Given the description of an element on the screen output the (x, y) to click on. 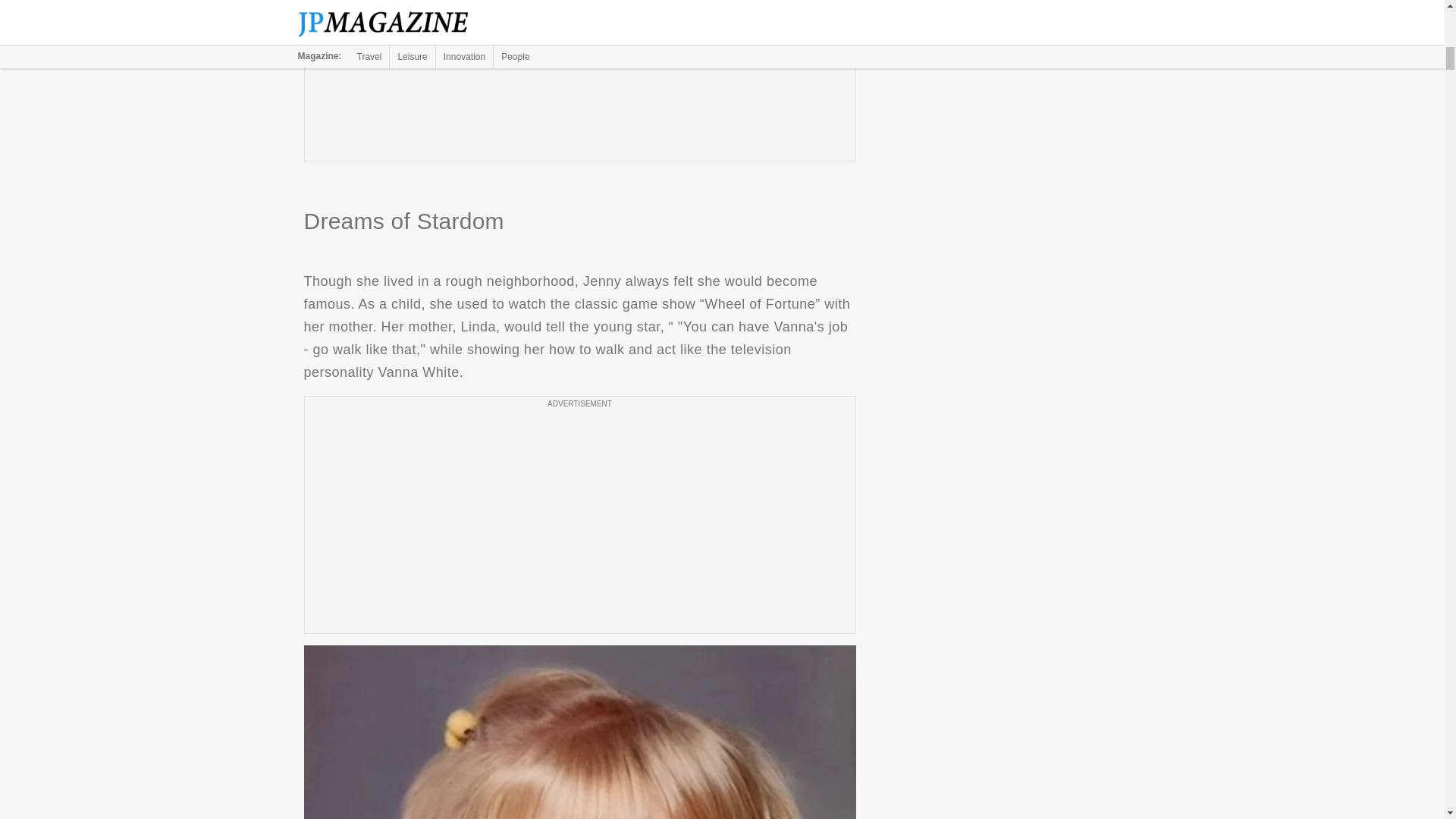
Dreams of Stardom (579, 732)
